Given the description of an element on the screen output the (x, y) to click on. 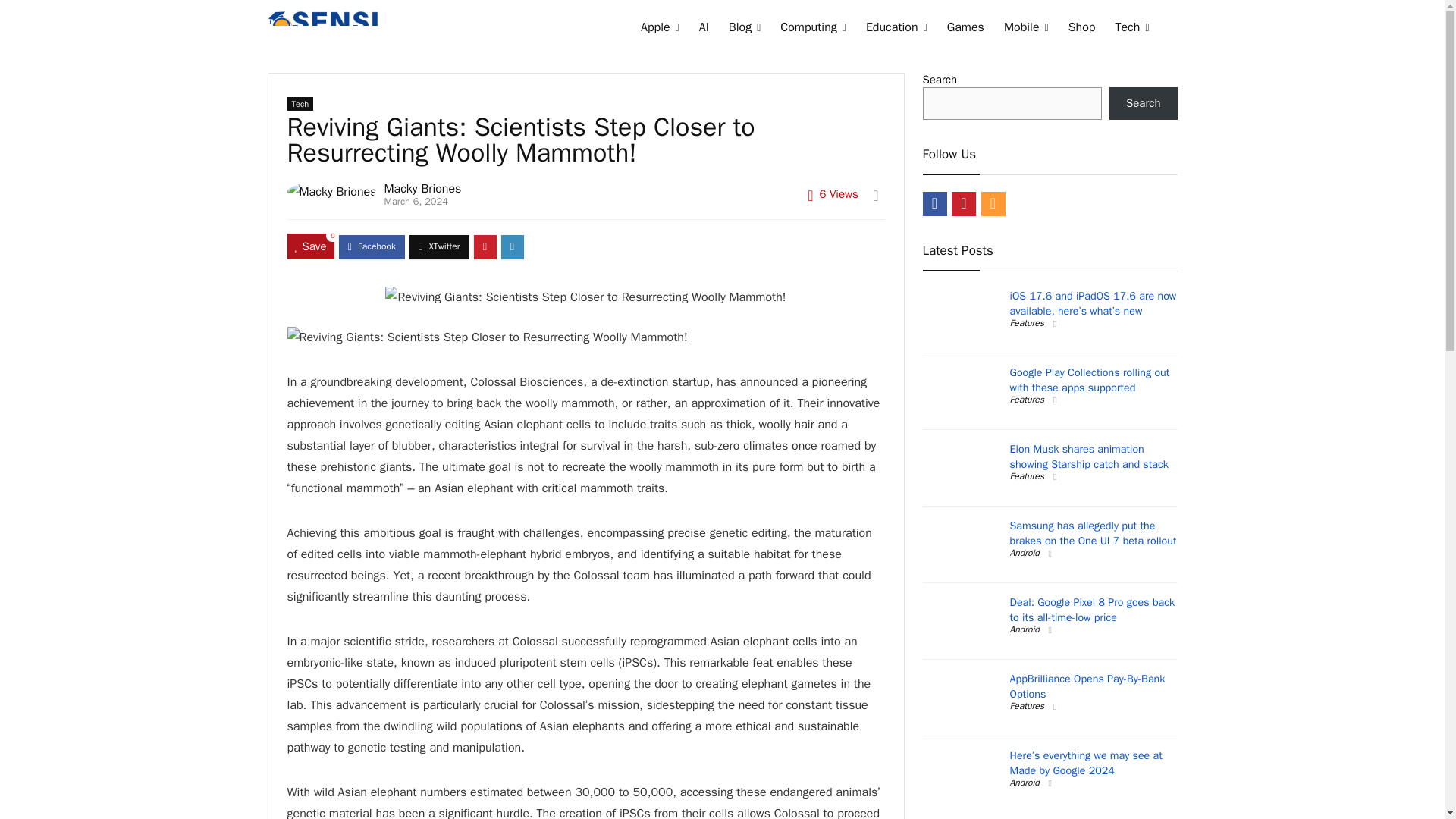
Pinterest (963, 203)
Education (896, 28)
Games (965, 28)
Macky Briones (422, 188)
AI (703, 28)
Apple (659, 28)
Shop (1081, 28)
Tech (299, 103)
RSS (993, 203)
Tech (1131, 28)
Mobile (1026, 28)
Computing (813, 28)
Facebook (933, 203)
